Given the description of an element on the screen output the (x, y) to click on. 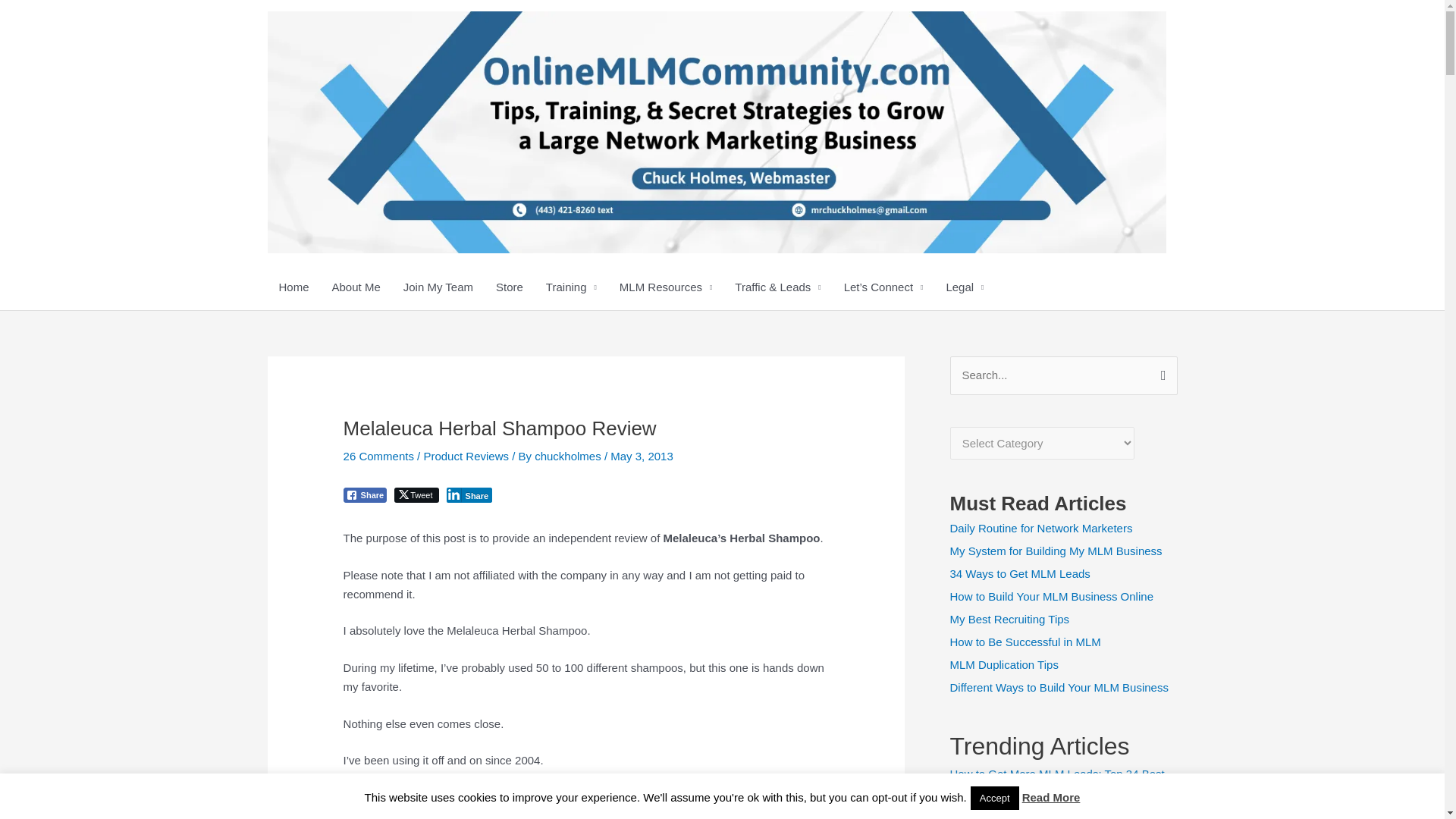
Store (509, 287)
Legal (964, 287)
Tweet (416, 494)
View all posts by chuckholmes (569, 455)
Join My Team (437, 287)
26 Comments (378, 455)
Share (365, 494)
Share (469, 494)
chuckholmes (569, 455)
Product Reviews (465, 455)
Training (571, 287)
Home (293, 287)
About Me (355, 287)
MLM Resources (665, 287)
